Given the description of an element on the screen output the (x, y) to click on. 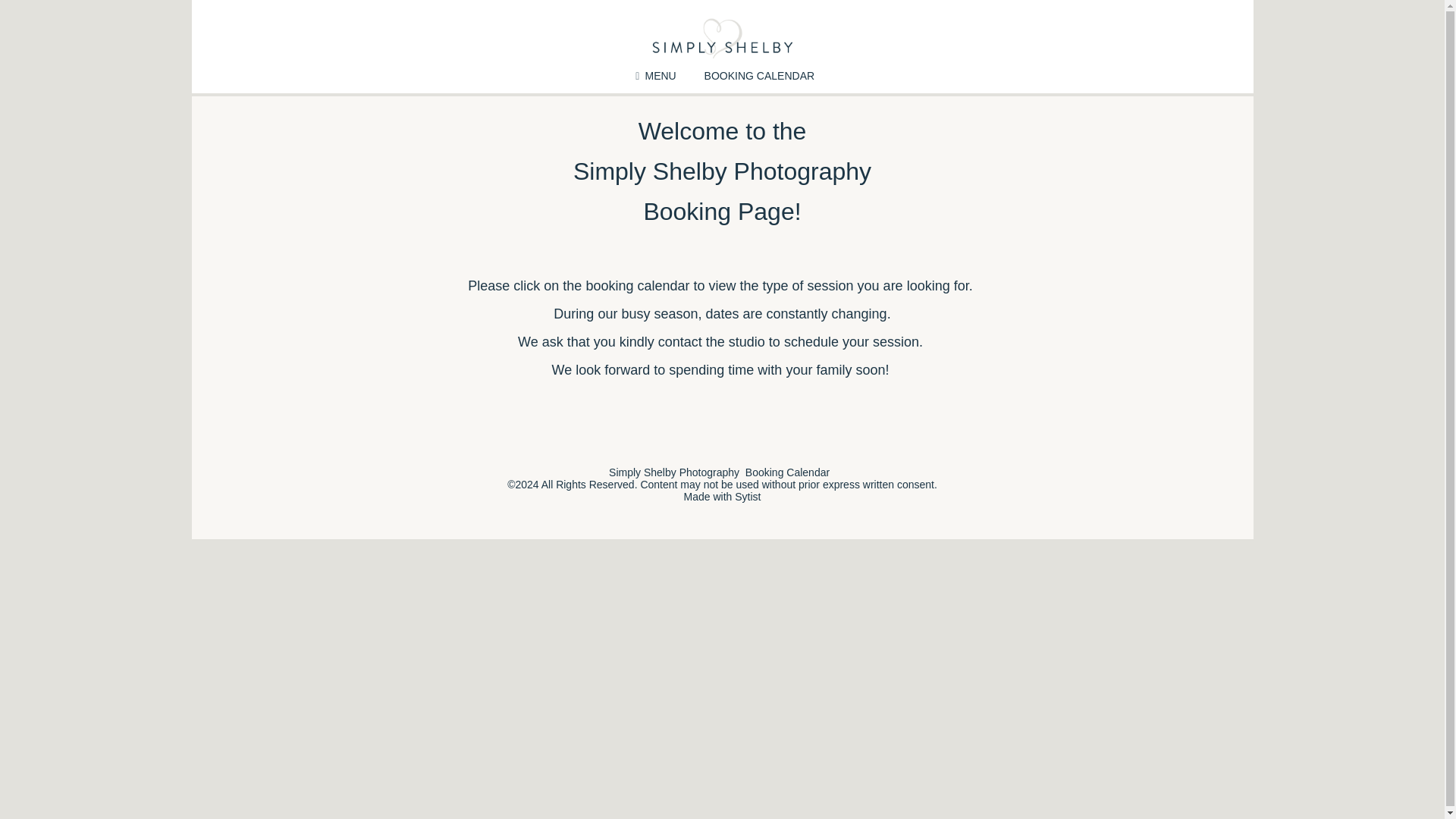
BOOKING CALENDAR (759, 75)
MENU (652, 75)
Simply Shelby Photography (673, 472)
Booking Calendar (787, 472)
Made with Sytist (722, 496)
